Given the description of an element on the screen output the (x, y) to click on. 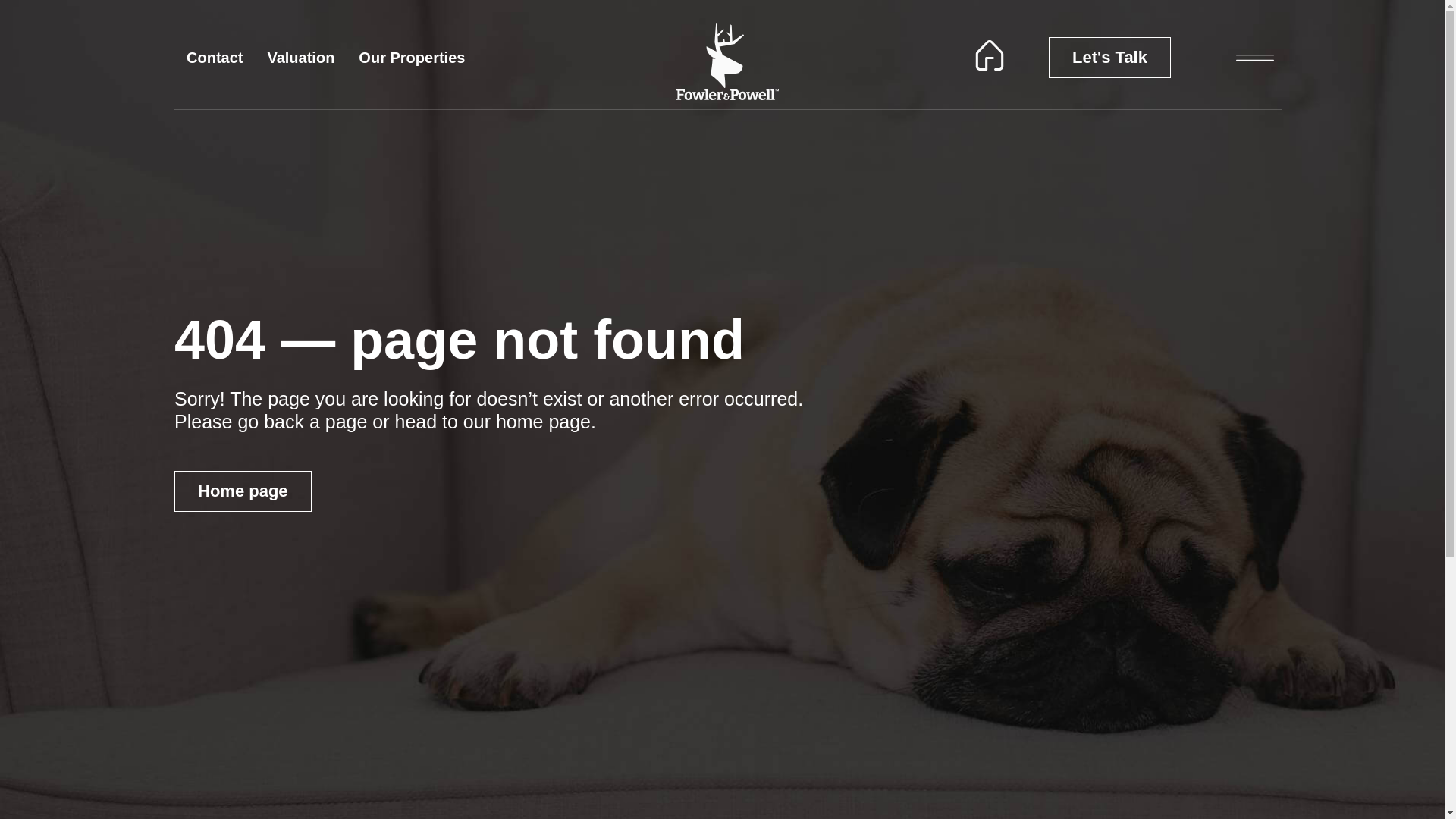
Let's Talk (1109, 56)
Contact (214, 57)
Let's talk (1109, 56)
Home page (242, 490)
Home page (242, 490)
Home (989, 55)
Valuation (300, 57)
Our Properties (411, 57)
